Given the description of an element on the screen output the (x, y) to click on. 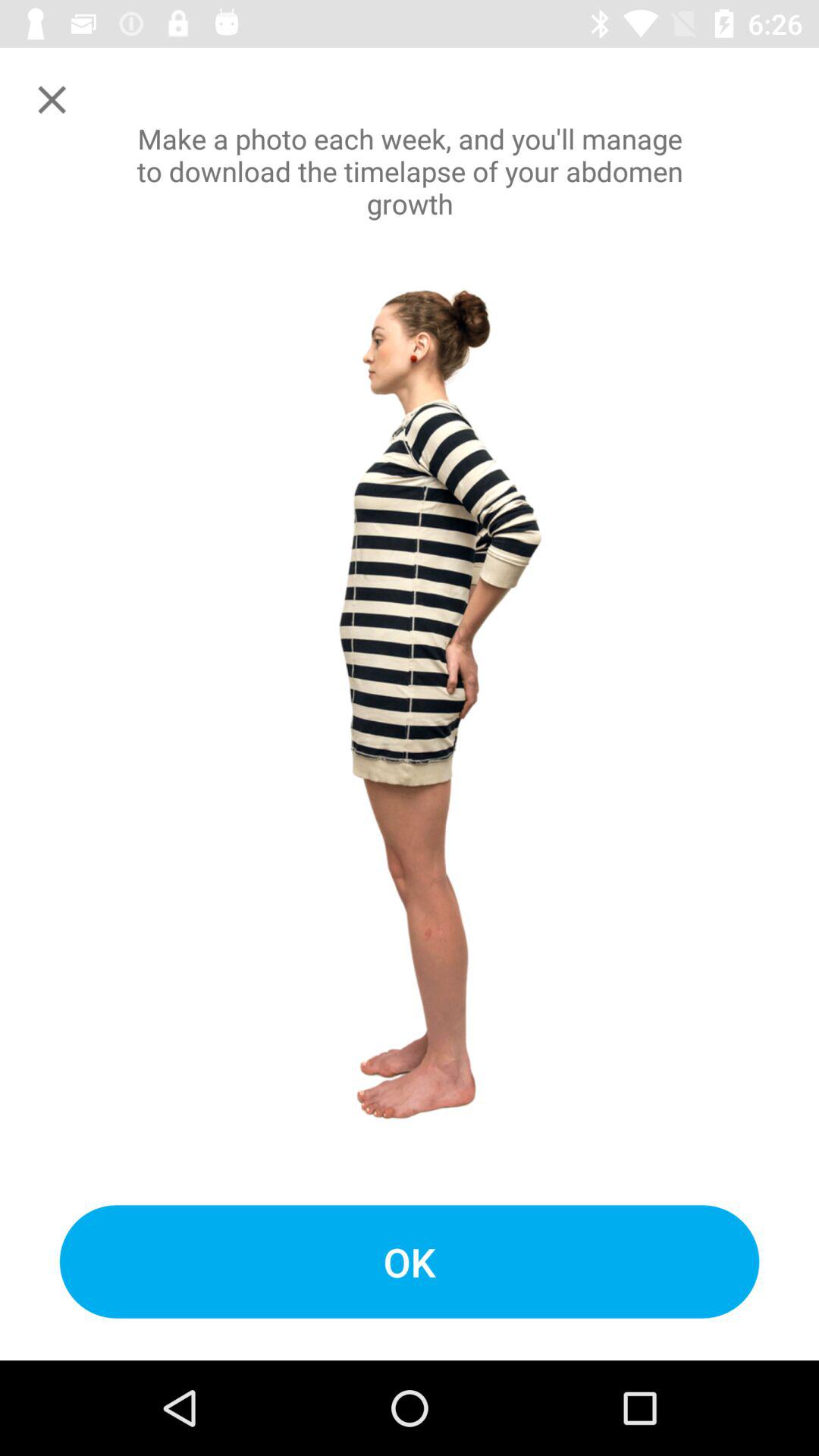
flip until the ok (409, 1261)
